Given the description of an element on the screen output the (x, y) to click on. 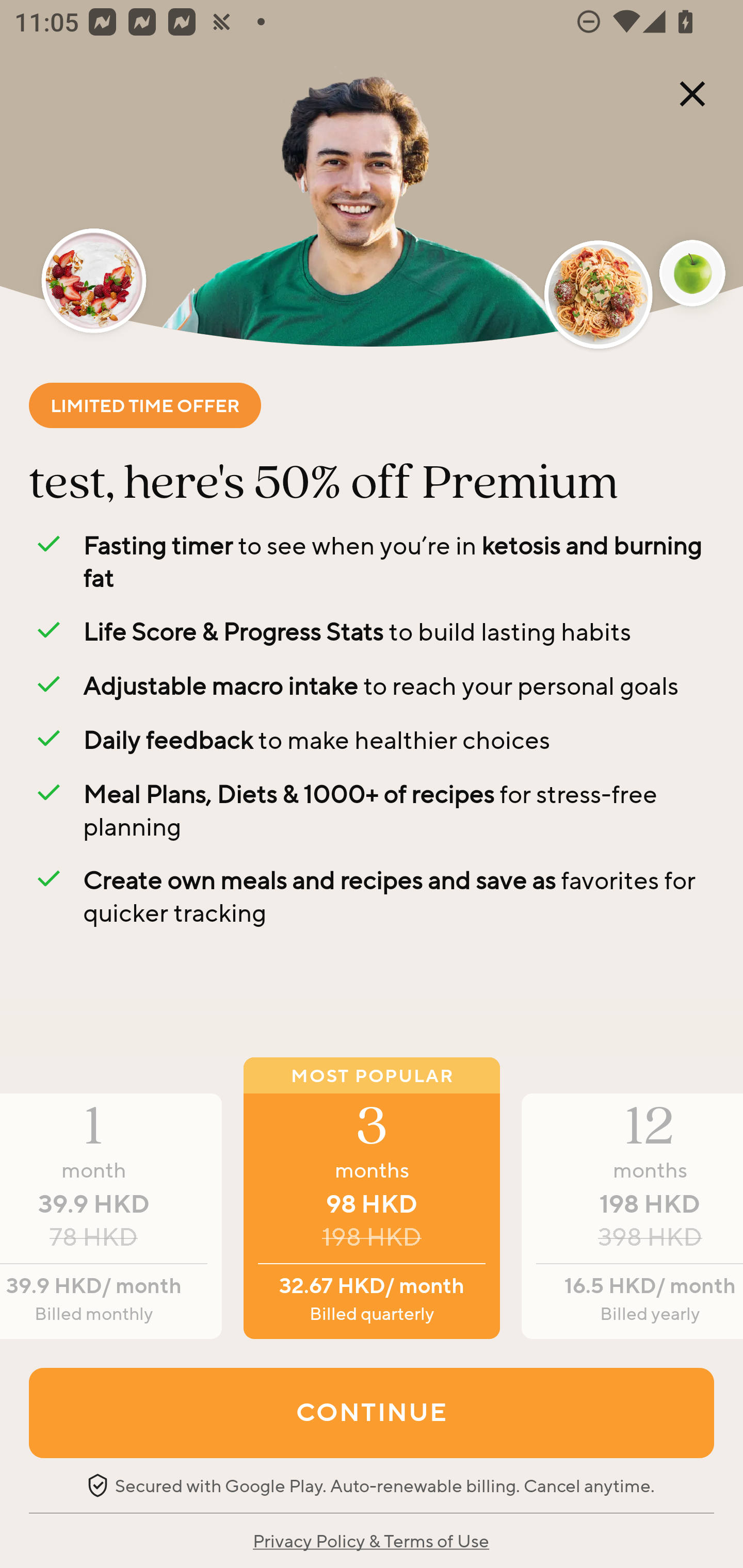
CONTINUE (371, 1412)
Privacy Policy & Terms of Use (370, 1540)
